Given the description of an element on the screen output the (x, y) to click on. 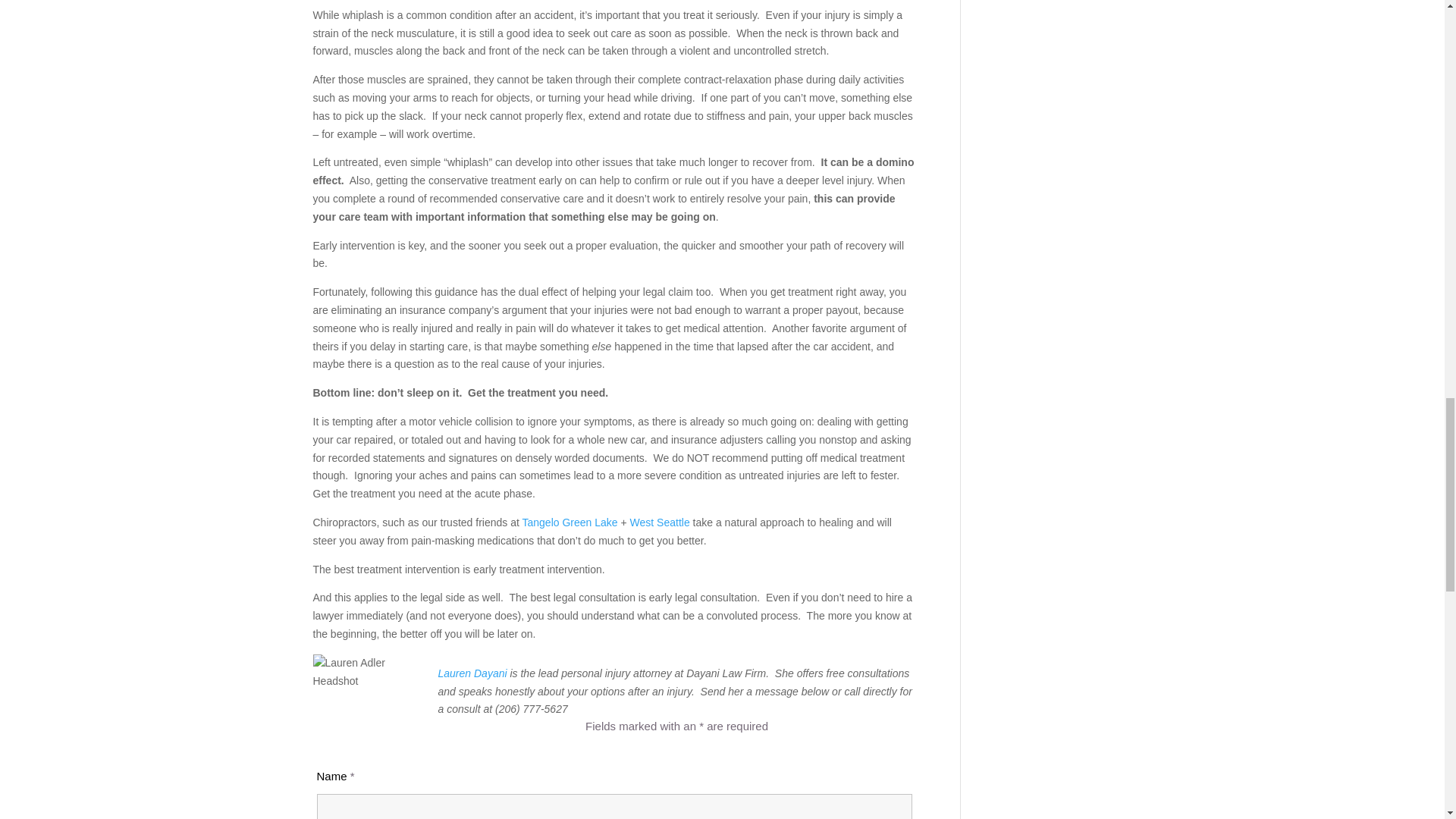
West Seattle (660, 522)
Tangelo (541, 522)
Lauren Dayani (472, 673)
Green Lake (589, 522)
